Given the description of an element on the screen output the (x, y) to click on. 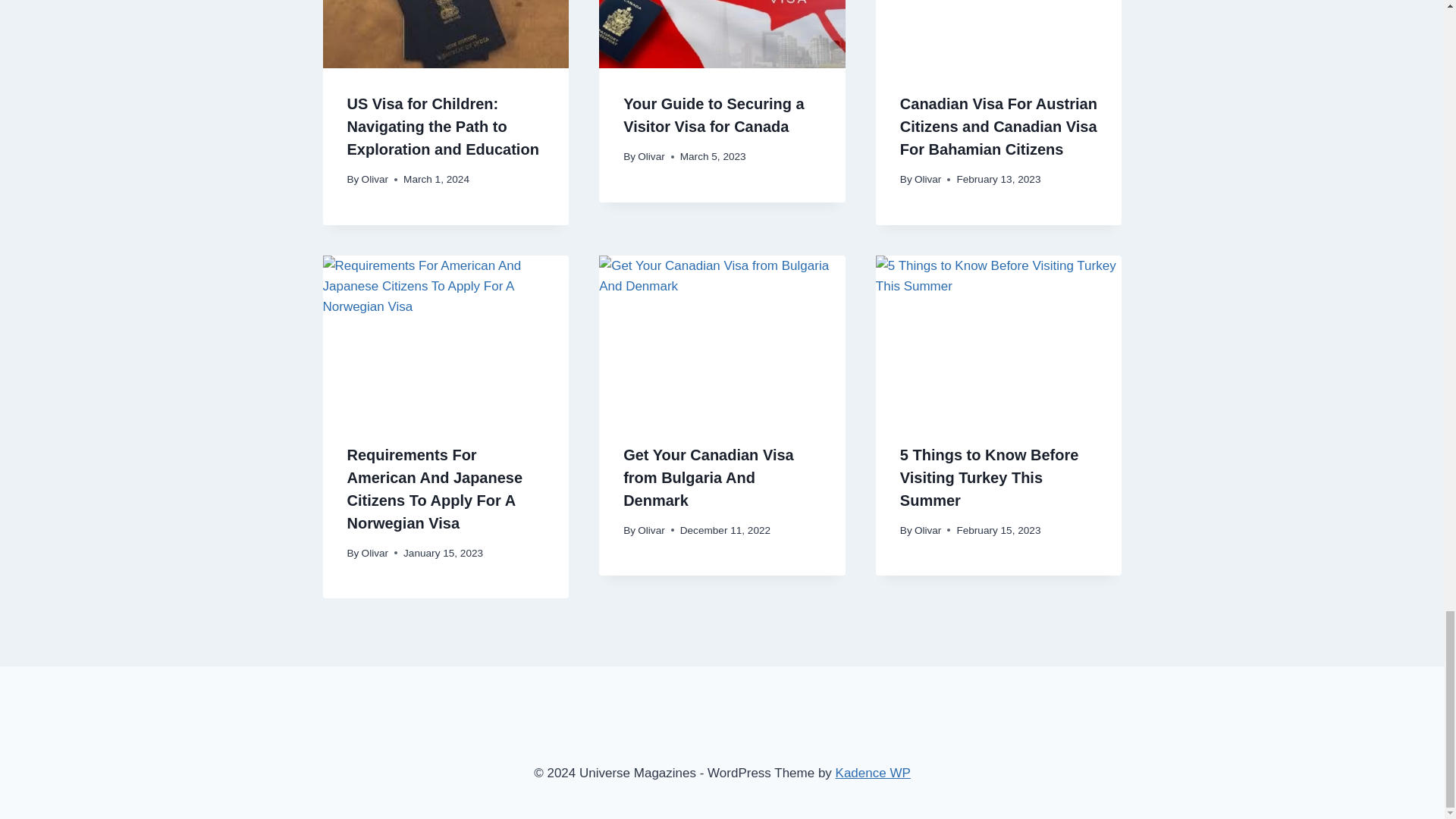
Your Guide to Securing a Visitor Visa for Canada (714, 115)
Olivar (651, 156)
Olivar (374, 552)
Olivar (928, 179)
Olivar (374, 179)
